Given the description of an element on the screen output the (x, y) to click on. 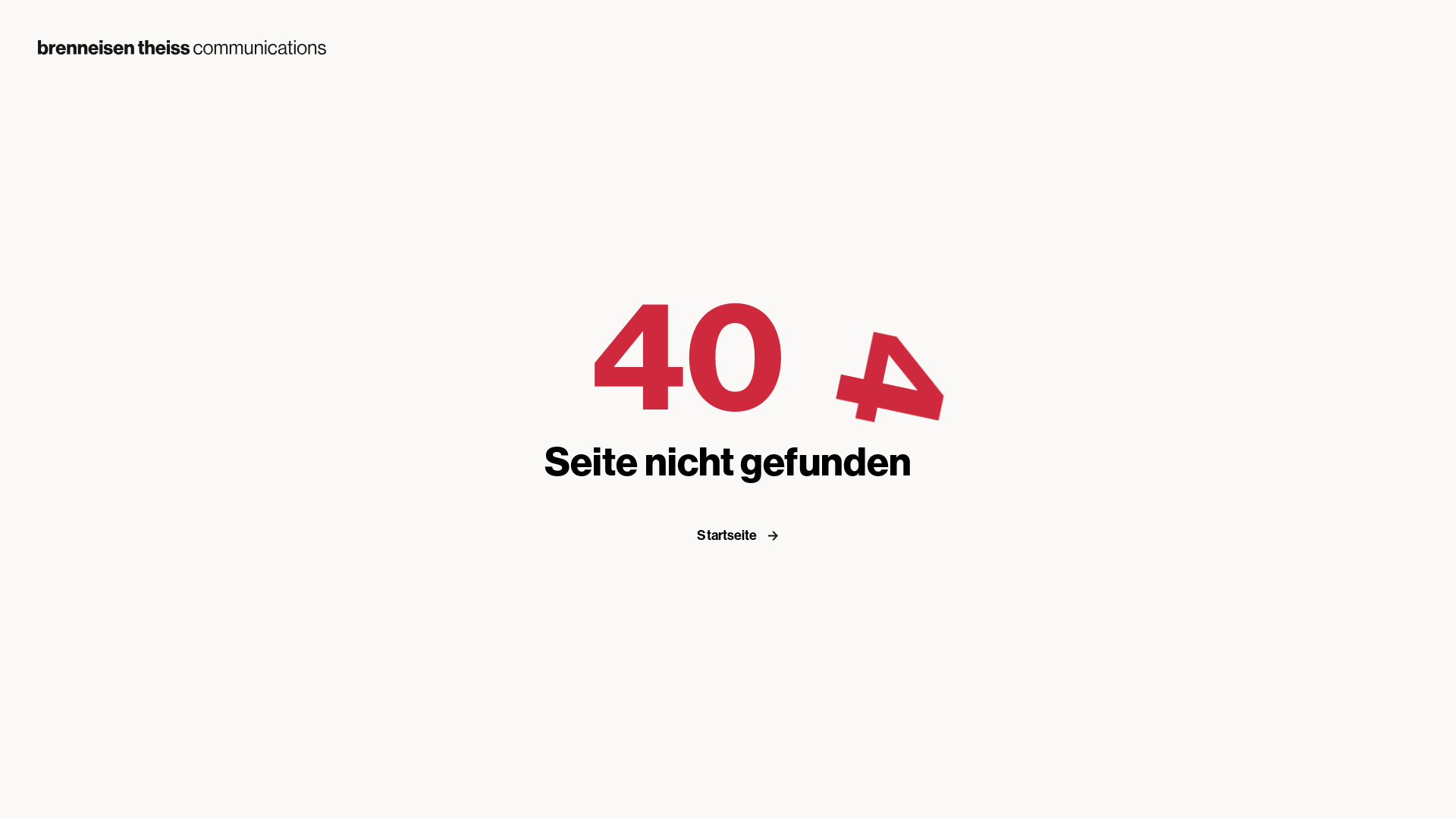
Startseite Element type: text (742, 534)
